Given the description of an element on the screen output the (x, y) to click on. 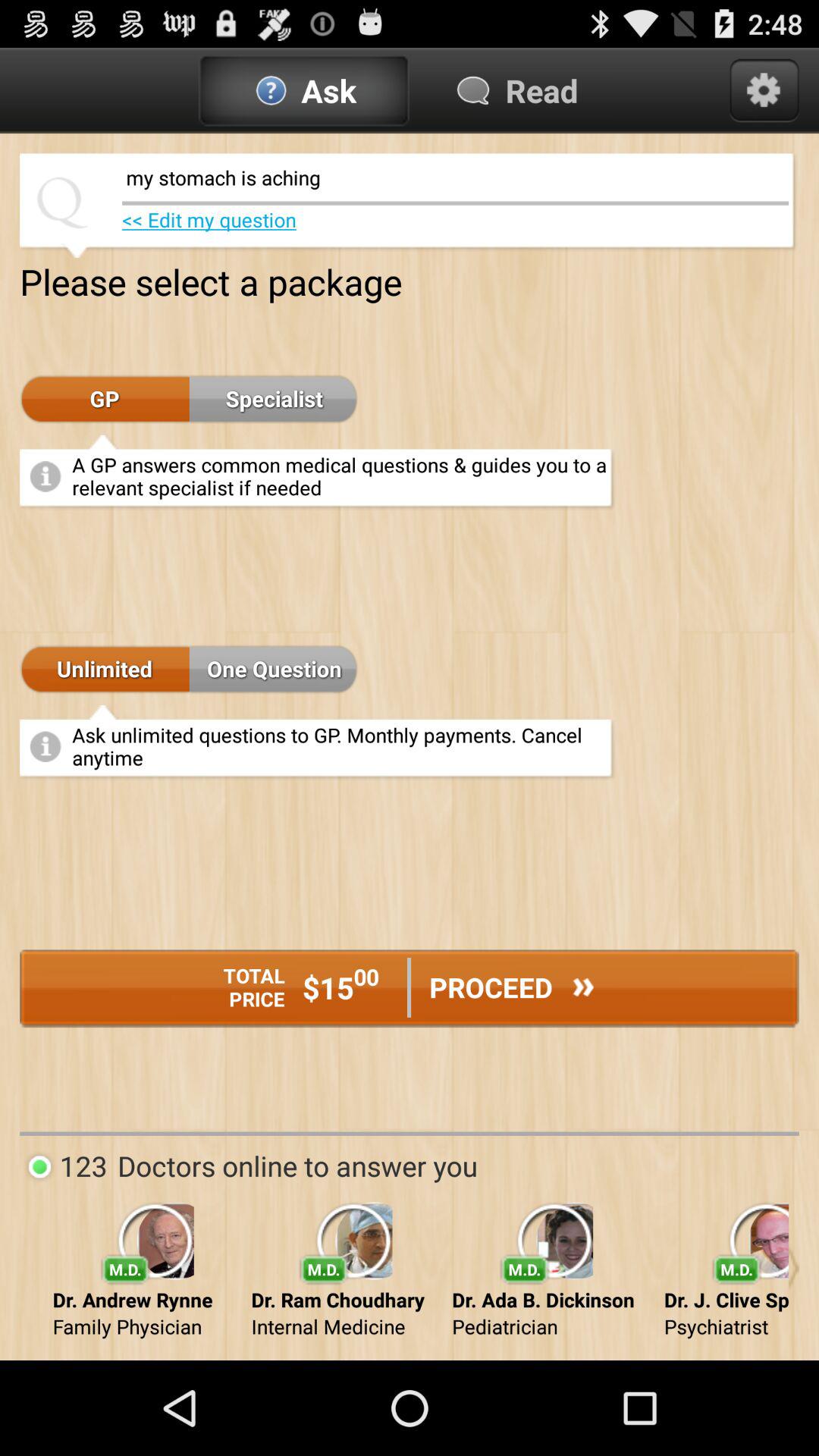
jump to one question item (273, 669)
